Given the description of an element on the screen output the (x, y) to click on. 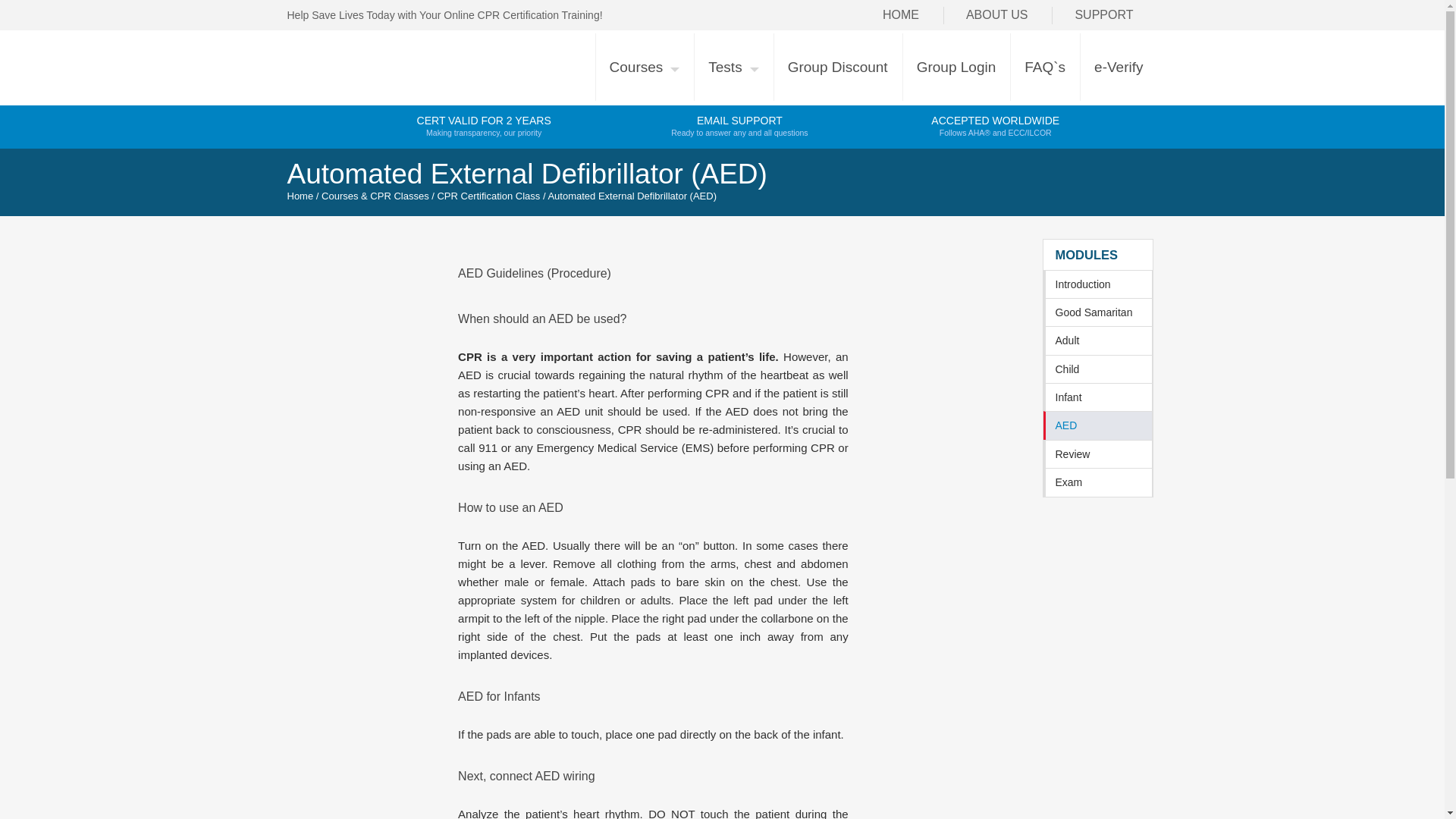
Courses (644, 66)
Group Login (483, 127)
HOME (956, 66)
Tests (900, 14)
e-Verify (732, 66)
SUPPORT (1118, 66)
Group Discount (1103, 14)
Go to CPR Certification Class. (837, 66)
